Given the description of an element on the screen output the (x, y) to click on. 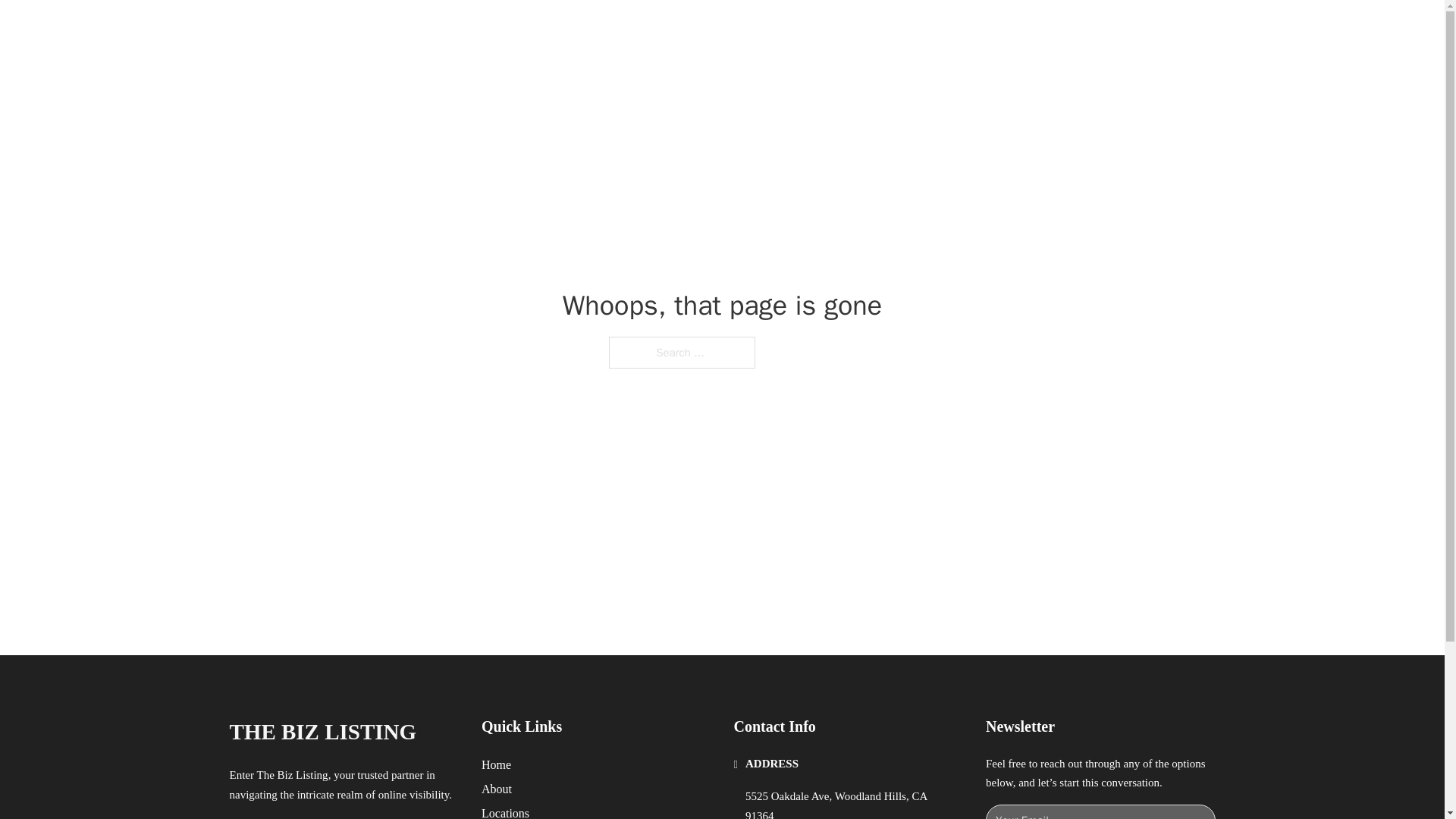
LOCATIONS (990, 29)
HOME (919, 29)
About (496, 788)
Home (496, 764)
THE BIZ LISTING (393, 28)
Locations (505, 811)
THE BIZ LISTING (322, 732)
